Given the description of an element on the screen output the (x, y) to click on. 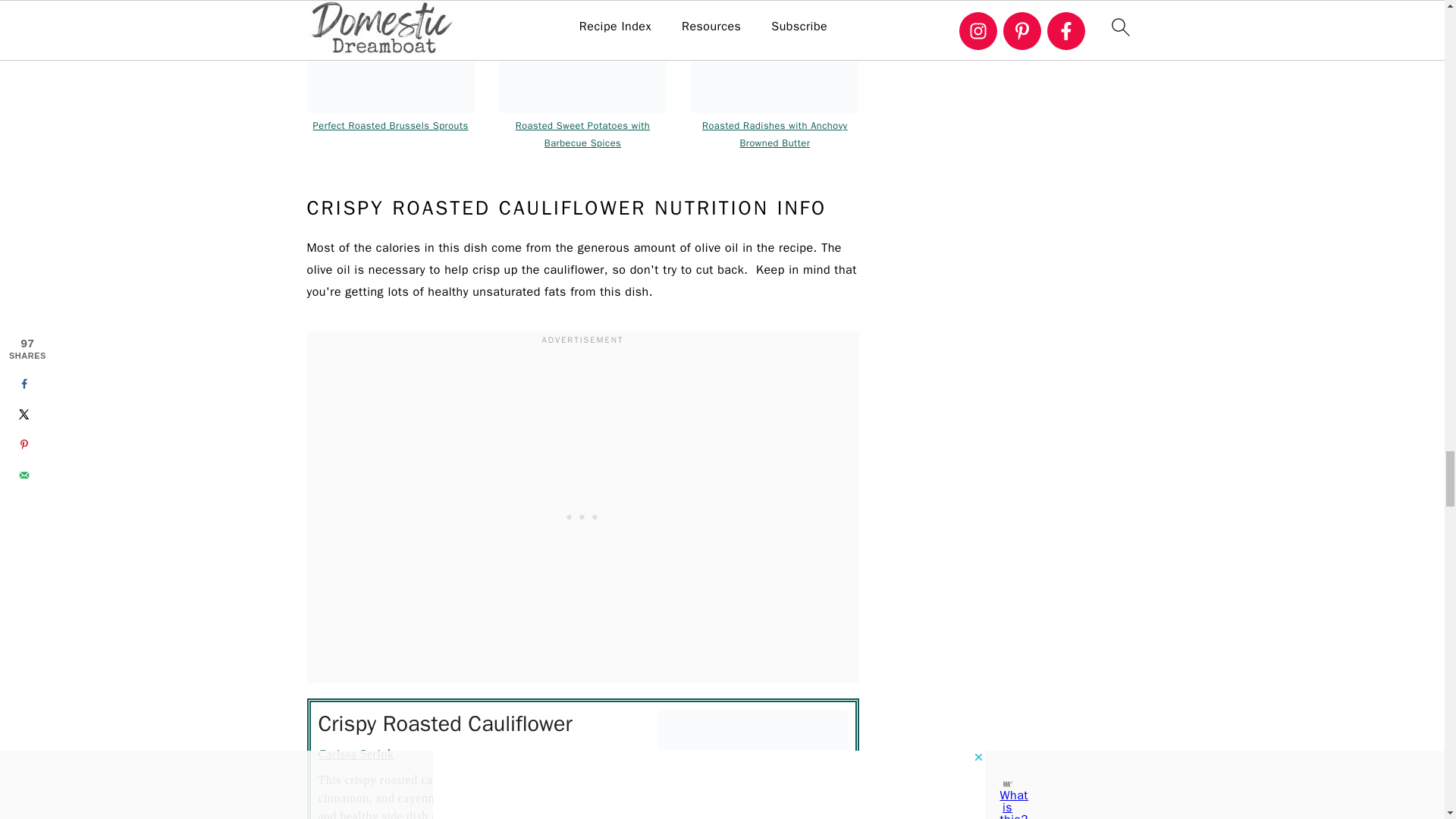
Crispy Roasted Cauliflower (752, 764)
Crispy Roasted Cauliflower (774, 56)
Crispy Roasted Cauliflower (582, 56)
Crispy Roasted Cauliflower (389, 56)
